Given the description of an element on the screen output the (x, y) to click on. 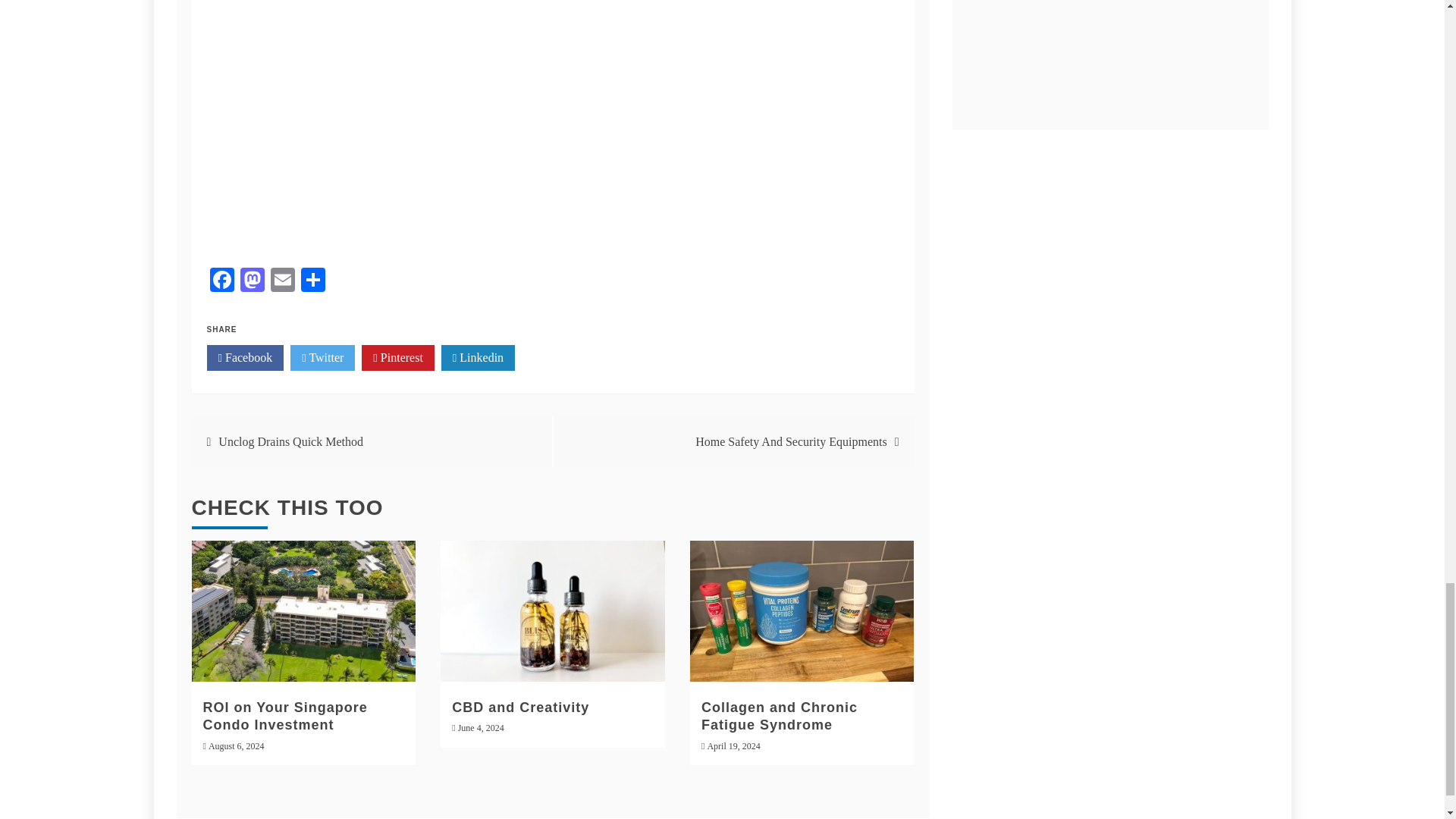
Facebook (244, 357)
Linkedin (478, 357)
Home Safety And Security Equipments (790, 440)
Mastodon (250, 281)
Unclog Drains Quick Method (290, 440)
ROI on Your Singapore Condo Investment (285, 716)
Facebook (220, 281)
August 6, 2024 (236, 746)
Email (281, 281)
YouTube video player (552, 124)
